Given the description of an element on the screen output the (x, y) to click on. 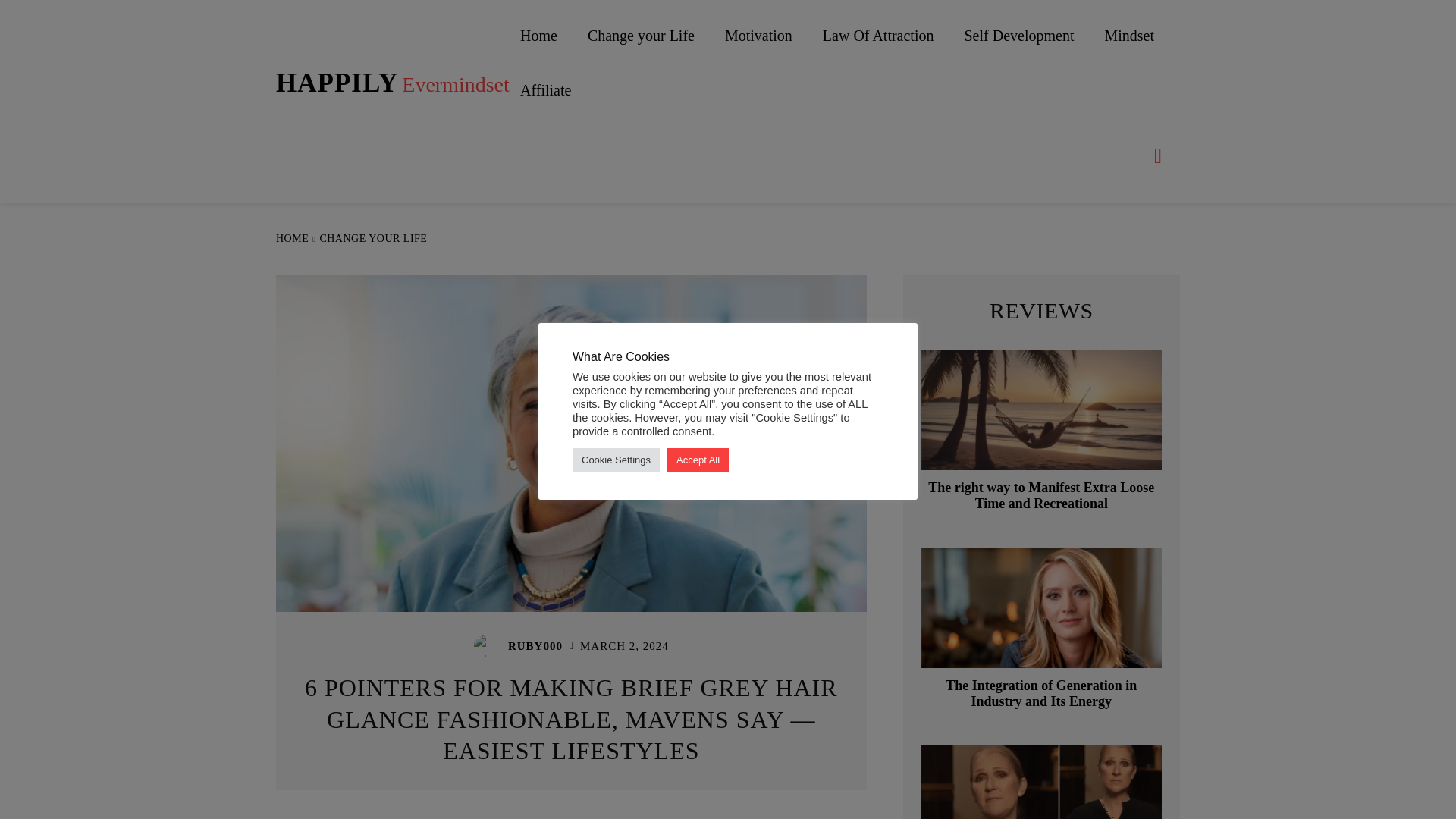
The right way to Manifest Extra Loose Time and Recreational (1041, 409)
The Integration of Generation in Industry and Its Energy (1041, 607)
Affiliate (545, 90)
Home (538, 35)
Self Development (1019, 35)
Mindset (1129, 35)
Change your Life (641, 35)
The right way to Manifest Extra Loose Time and Recreational (1041, 495)
View all posts in Change Your Life (372, 238)
Motivation (759, 35)
Law Of Attraction (878, 35)
The Integration of Generation in Industry and Its Energy (392, 83)
Ruby000 (1040, 694)
smiling-mature-woman-short-gray-hair.jpg (488, 645)
